Given the description of an element on the screen output the (x, y) to click on. 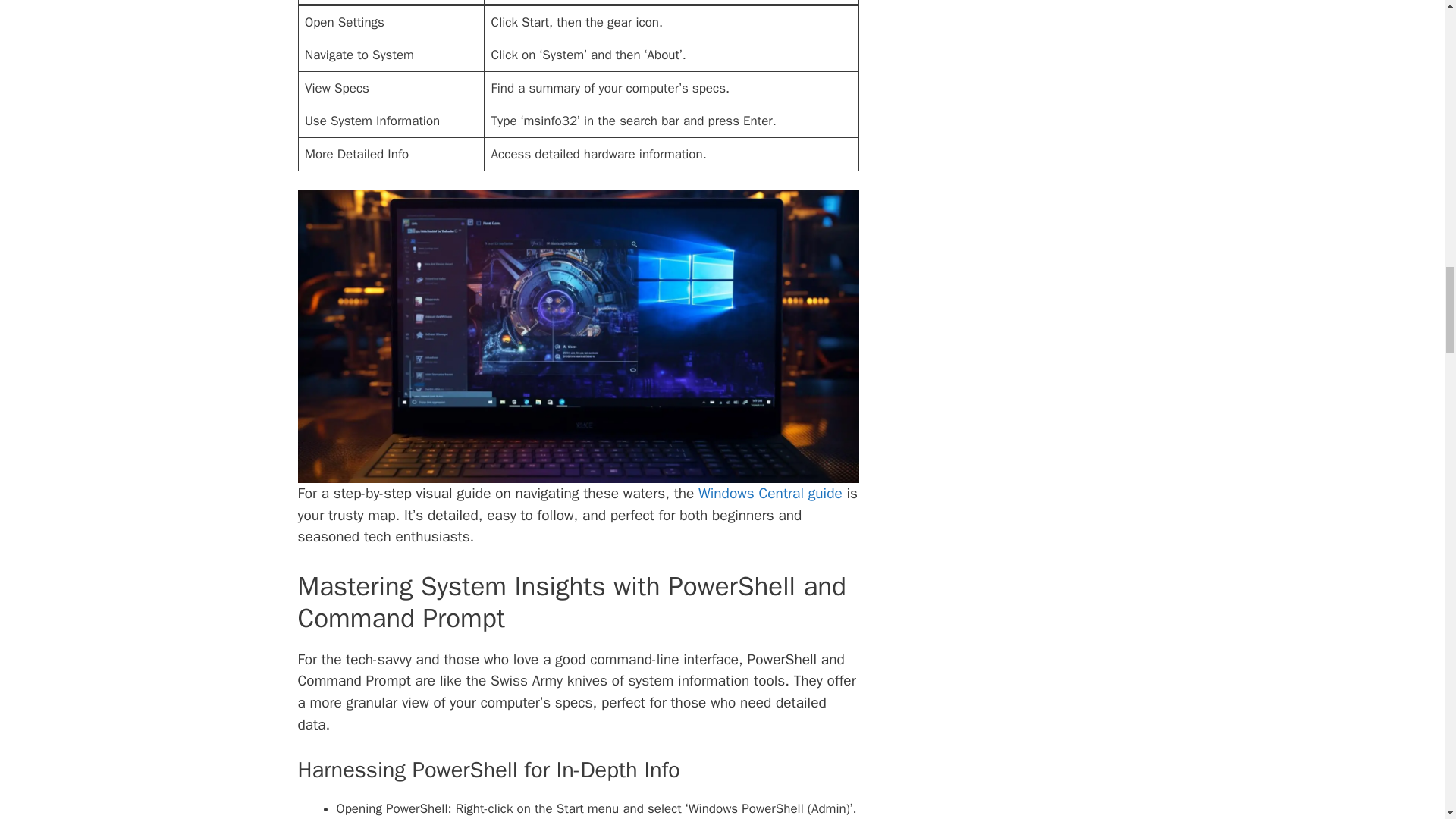
Windows Central guide (770, 493)
